Given the description of an element on the screen output the (x, y) to click on. 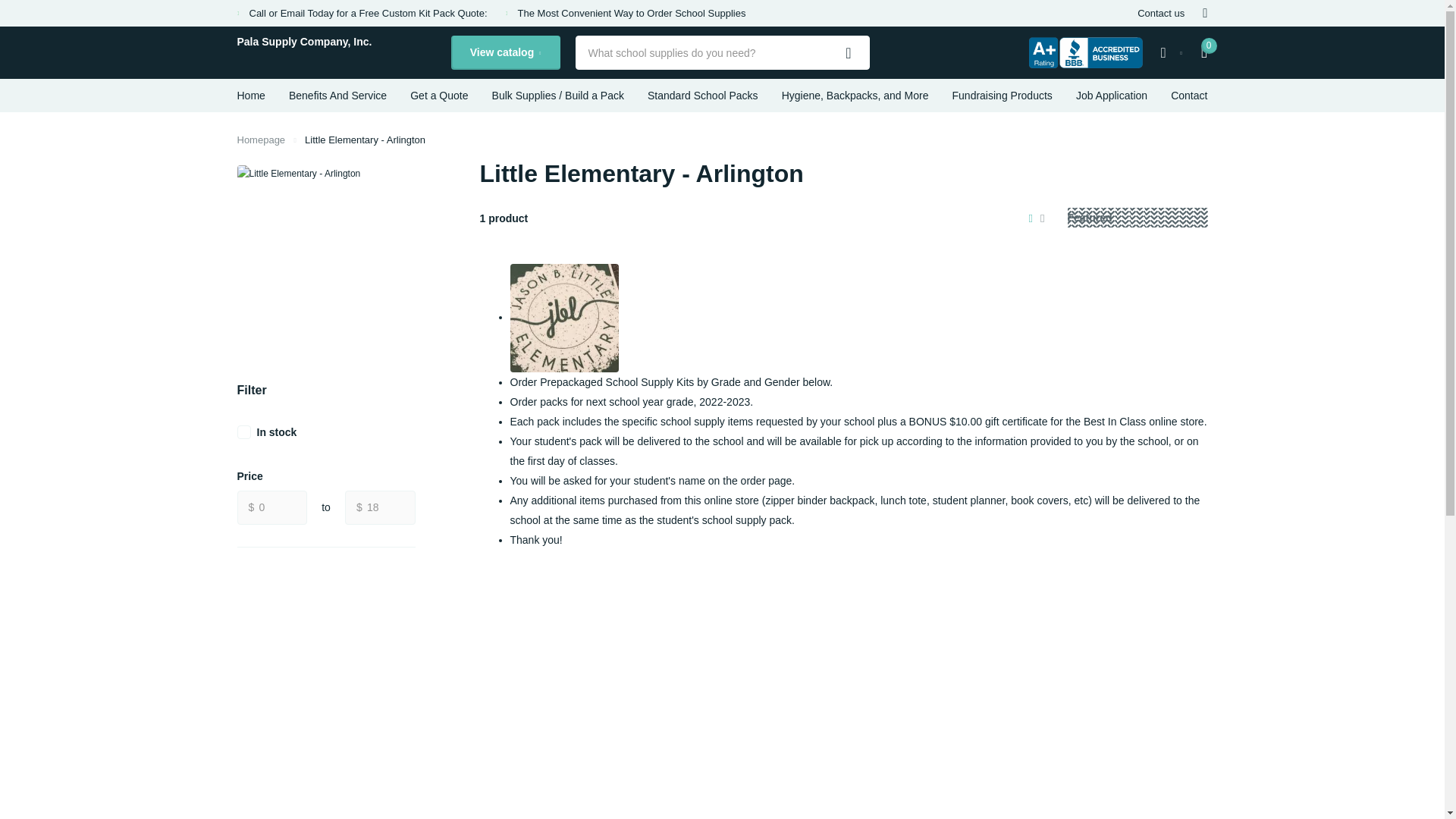
Home (260, 139)
Get a Quote (438, 95)
View catalog (504, 52)
0 (271, 507)
Contact us (1161, 13)
Benefits And Service (337, 95)
18 (379, 507)
Zoeken (848, 52)
